Given the description of an element on the screen output the (x, y) to click on. 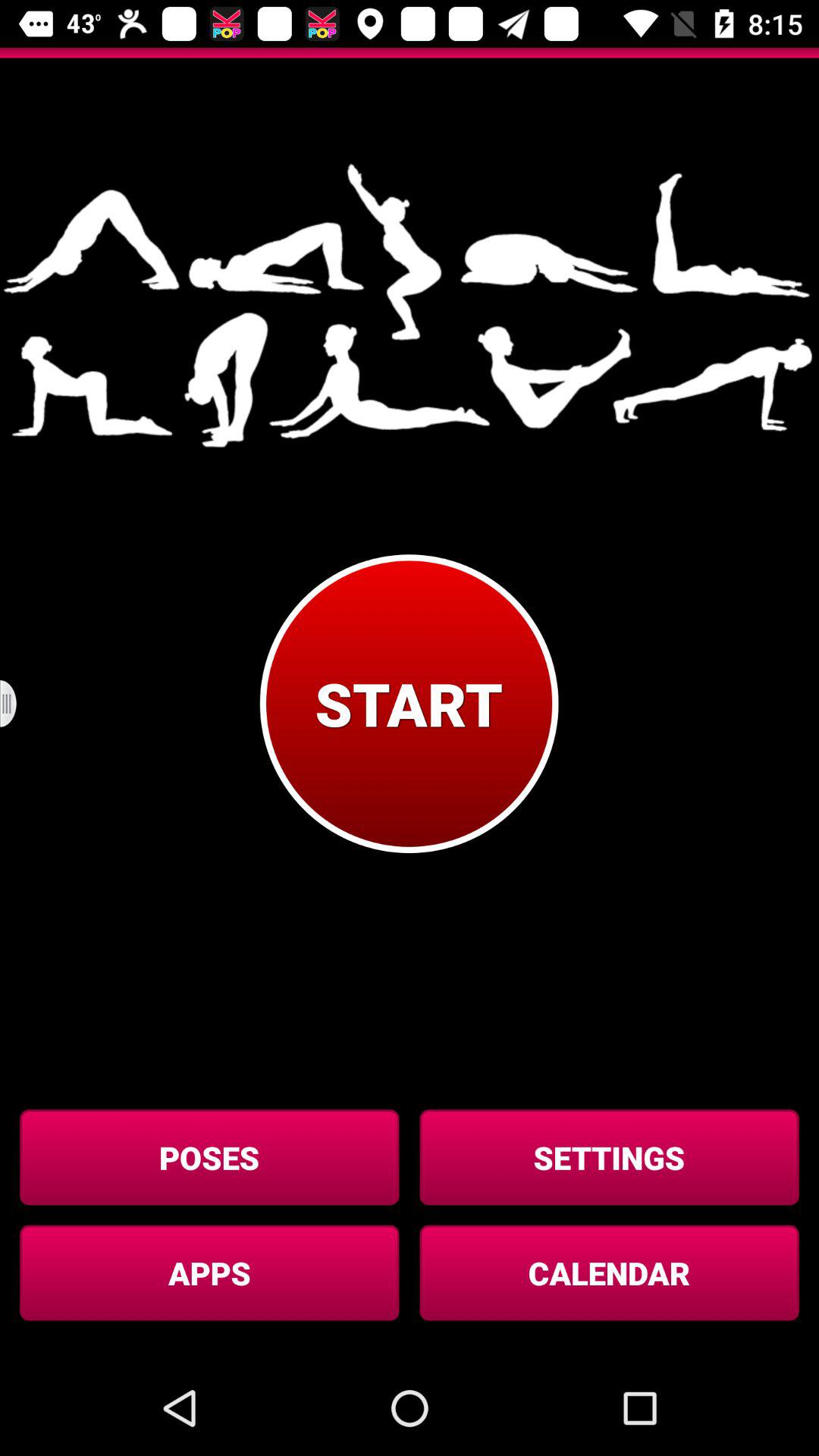
open button below the start item (609, 1157)
